Given the description of an element on the screen output the (x, y) to click on. 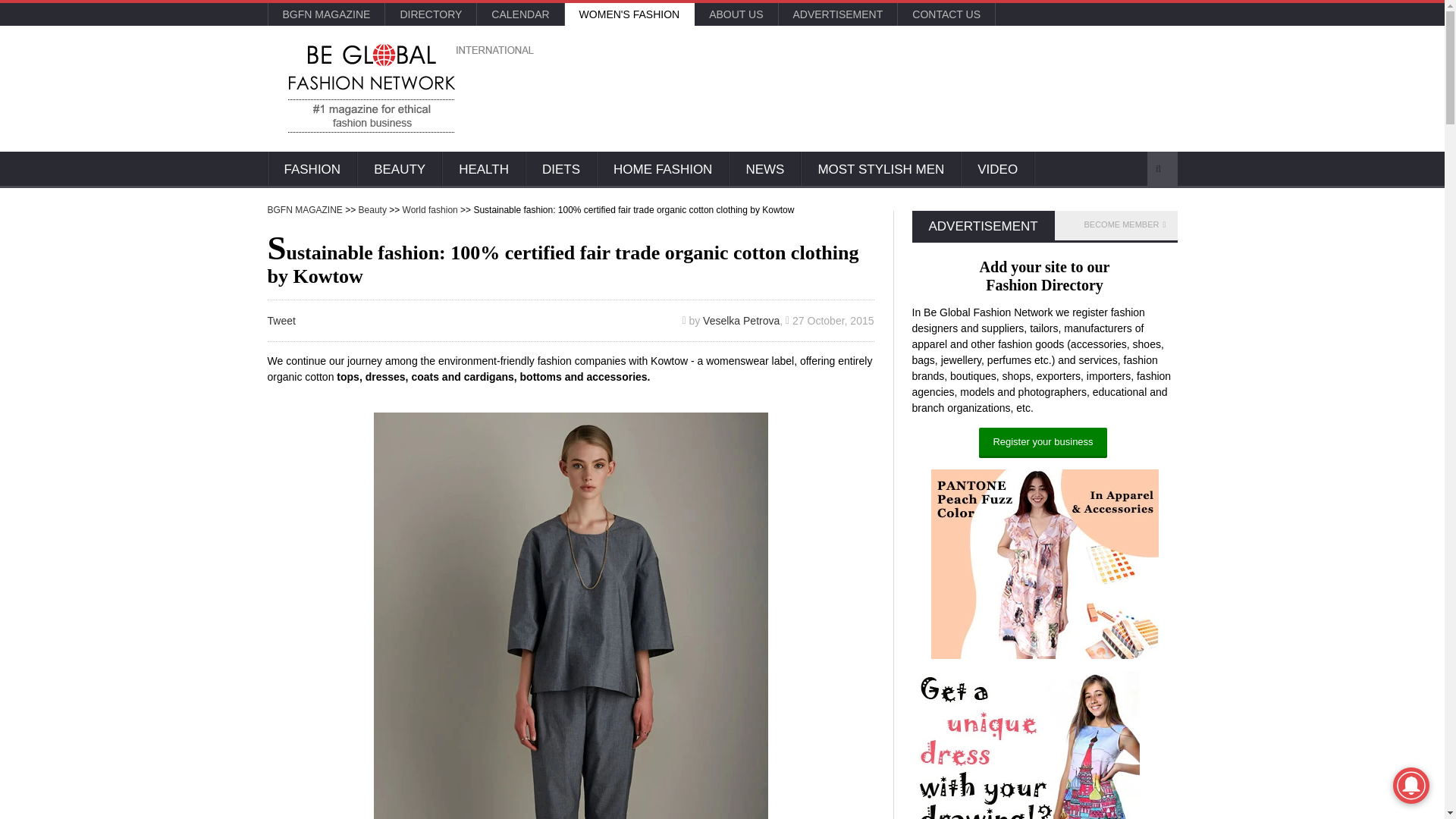
FASHION (311, 169)
ADVERTISEMENT (836, 14)
HEALTH (483, 169)
CONTACT US (946, 14)
WOMEN'S FASHION (629, 14)
BEAUTY (399, 169)
ABOUT US (735, 14)
CALENDAR (520, 14)
Advertisement (885, 87)
BGFN MAGAZINE (326, 14)
DIRECTORY (430, 14)
